Given the description of an element on the screen output the (x, y) to click on. 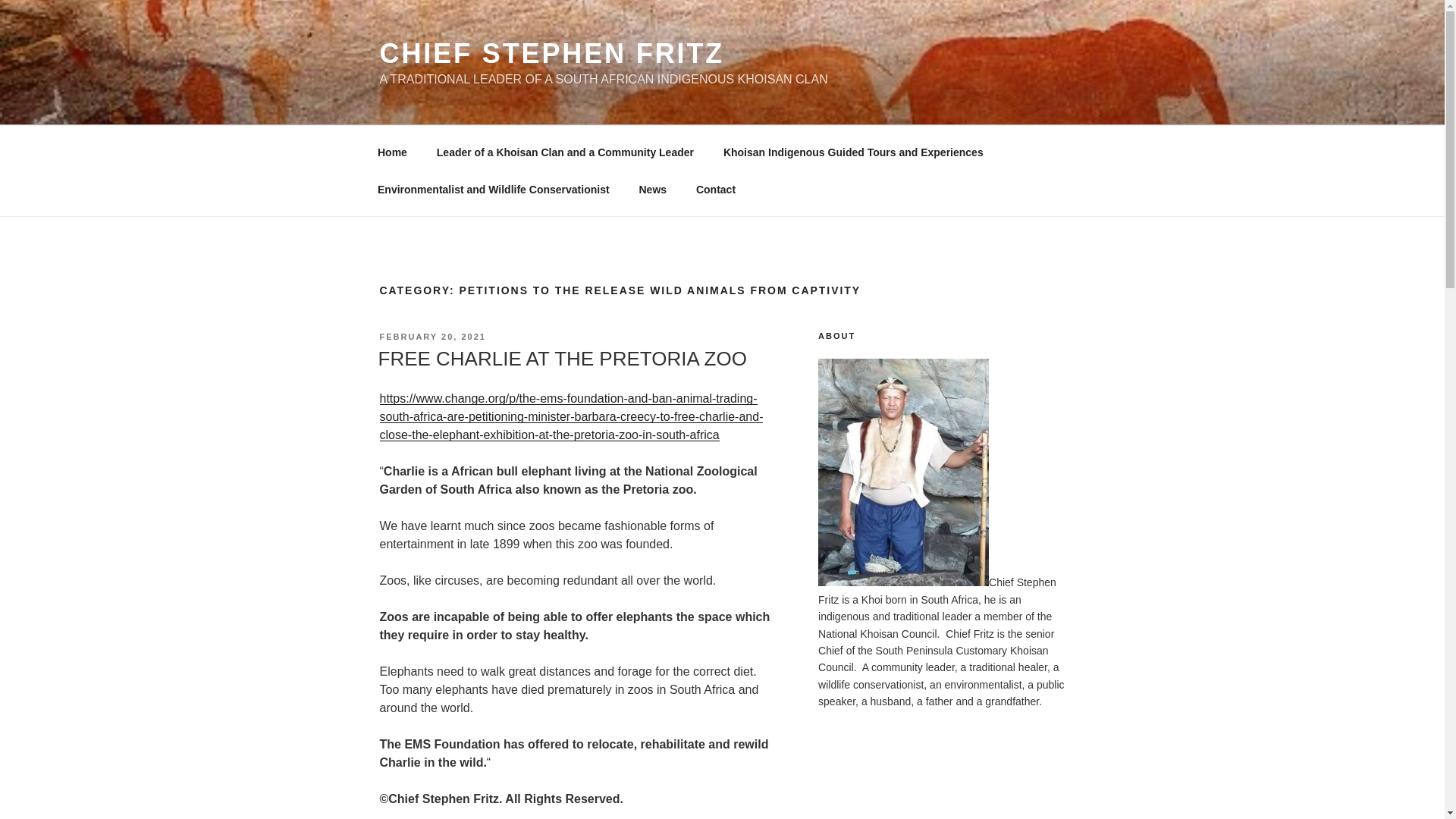
News (652, 189)
FEBRUARY 20, 2021 (431, 336)
CHIEF STEPHEN FRITZ (550, 52)
Contact (715, 189)
FREE CHARLIE AT THE PRETORIA ZOO (561, 358)
Khoisan Indigenous Guided Tours and Experiences (852, 151)
Home (392, 151)
Environmentalist and Wildlife Conservationist (493, 189)
Leader of a Khoisan Clan and a Community Leader (564, 151)
